Given the description of an element on the screen output the (x, y) to click on. 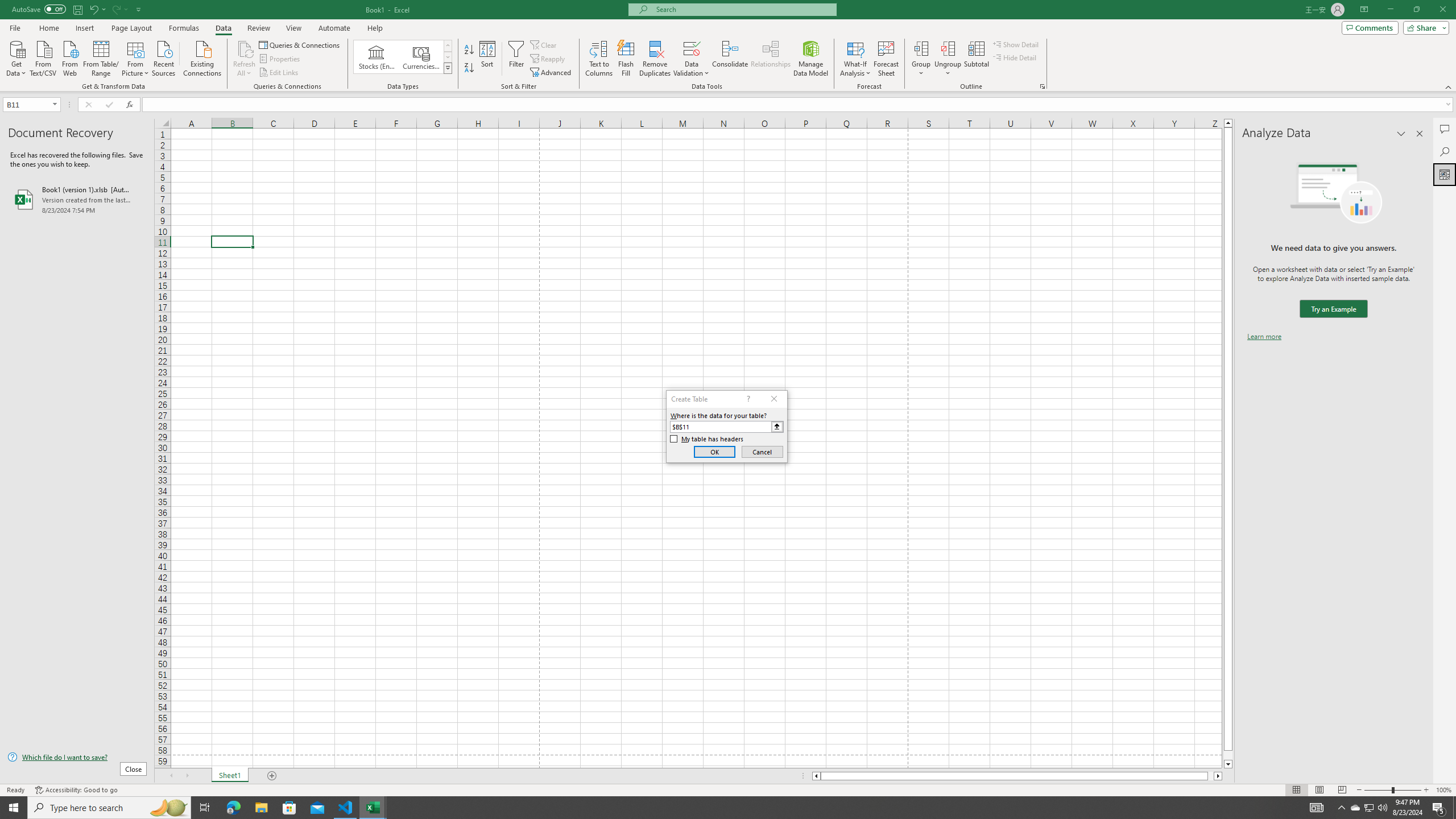
Insert (83, 28)
Group... (921, 48)
System (6, 6)
Flash Fill (625, 58)
Microsoft search (742, 9)
Minimize (1390, 9)
Zoom Out (1377, 790)
Data Types (448, 67)
Edit Links (279, 72)
Show Detail (1016, 44)
Class: NetUIScrollBar (1016, 775)
Column left (815, 775)
Stocks (English) (375, 56)
From Text/CSV (43, 57)
